Given the description of an element on the screen output the (x, y) to click on. 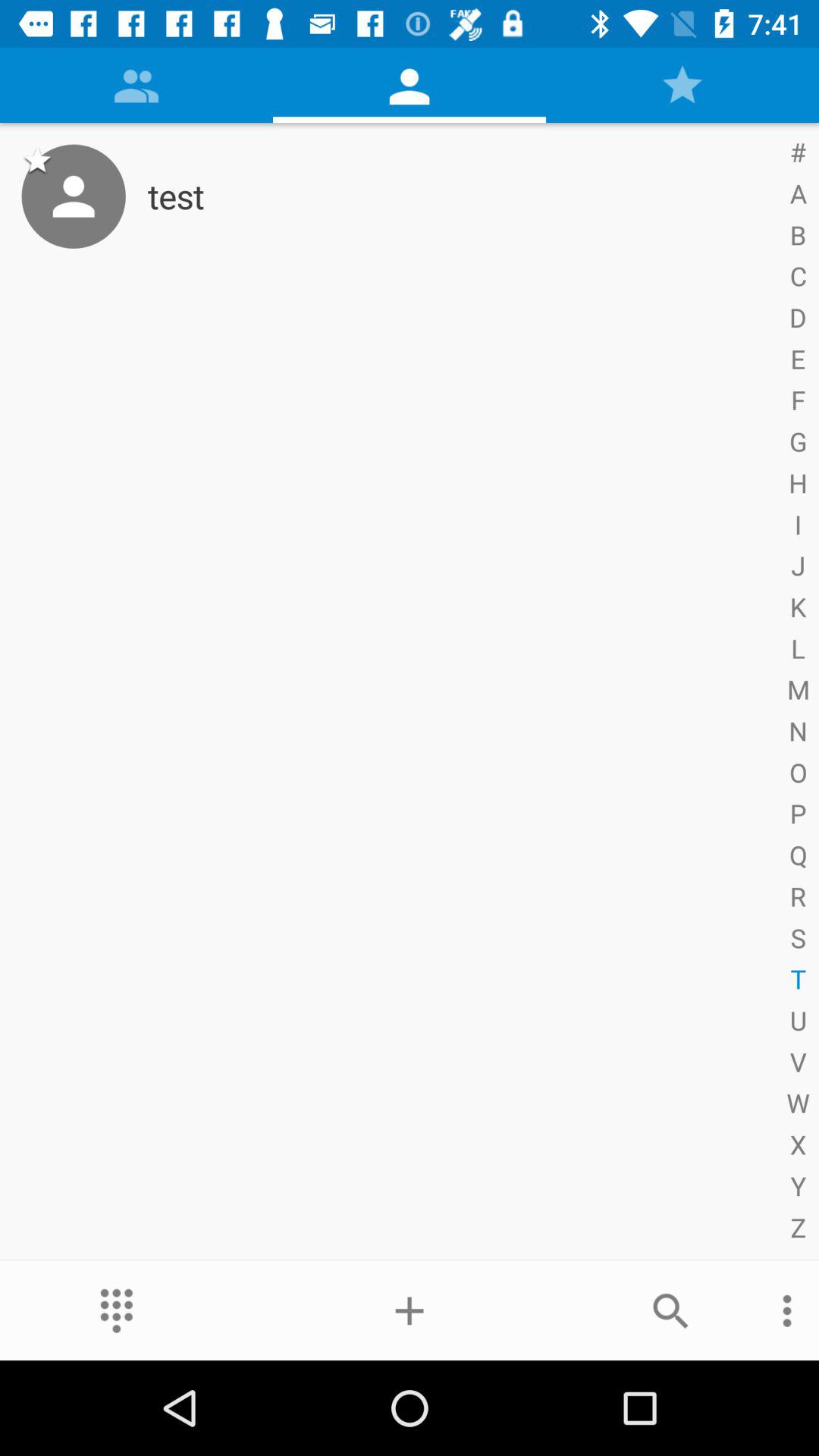
turn on the item next to test item (73, 196)
